Given the description of an element on the screen output the (x, y) to click on. 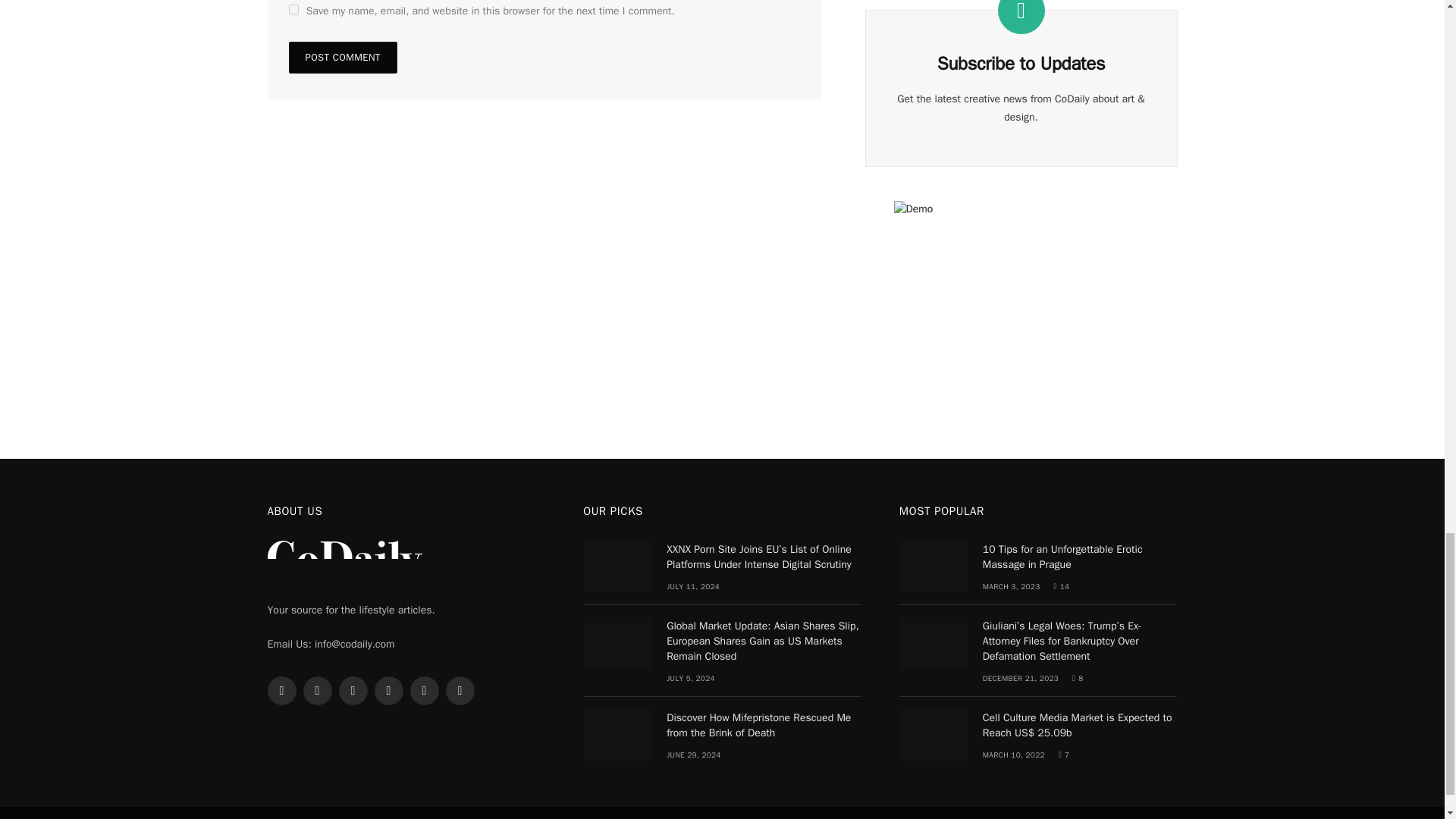
Post Comment (342, 57)
yes (293, 9)
